Given the description of an element on the screen output the (x, y) to click on. 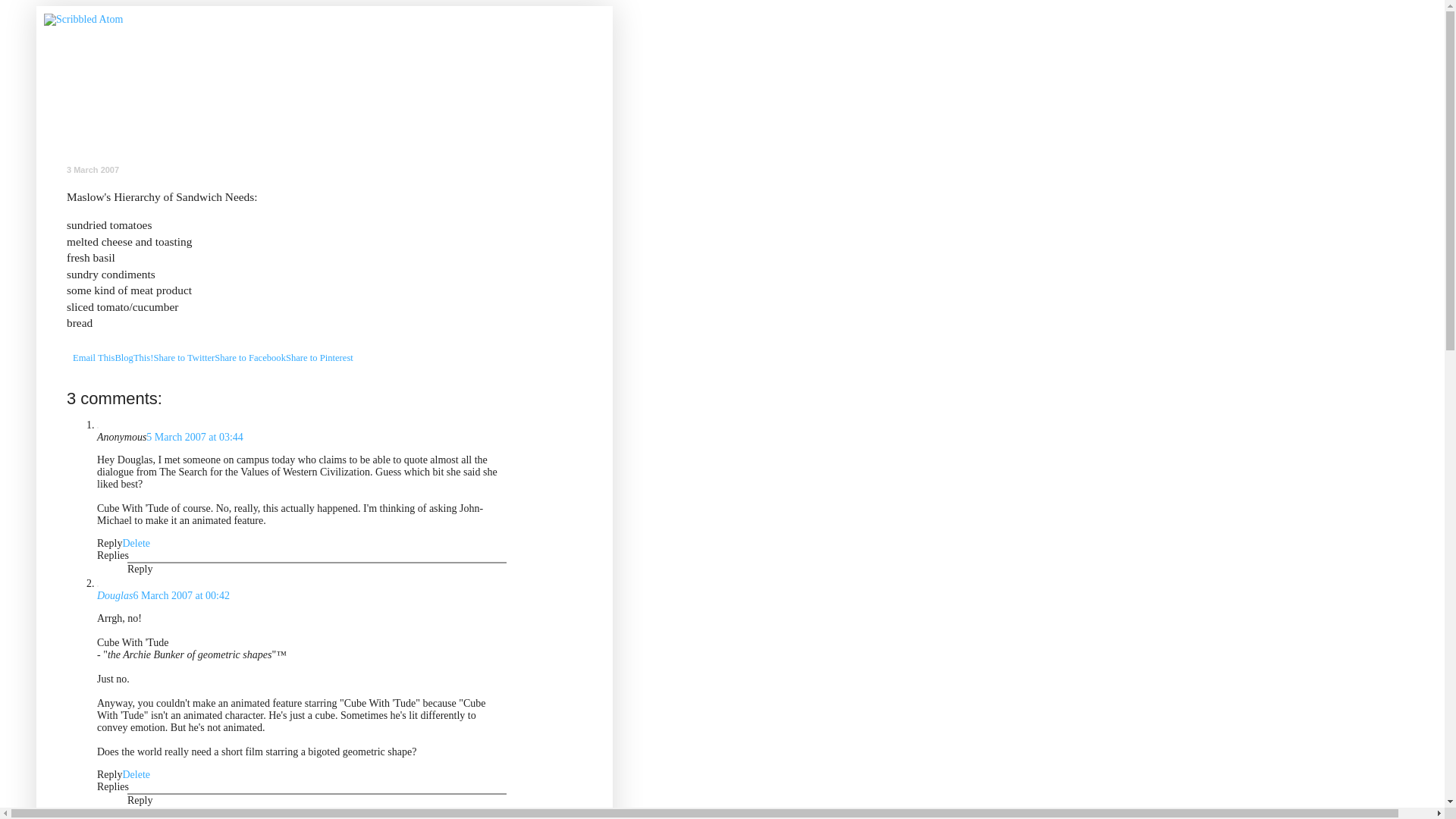
Replies (113, 555)
Email This (93, 357)
5 March 2007 at 03:44 (195, 437)
Replies (113, 786)
Reply (109, 774)
BlogThis! (133, 357)
Share to Facebook (249, 357)
Reply (140, 799)
Share to Twitter (183, 357)
BlogThis! (133, 357)
Reply (140, 568)
Share to Twitter (183, 357)
Reply (109, 542)
Delete (135, 774)
Email This (93, 357)
